Given the description of an element on the screen output the (x, y) to click on. 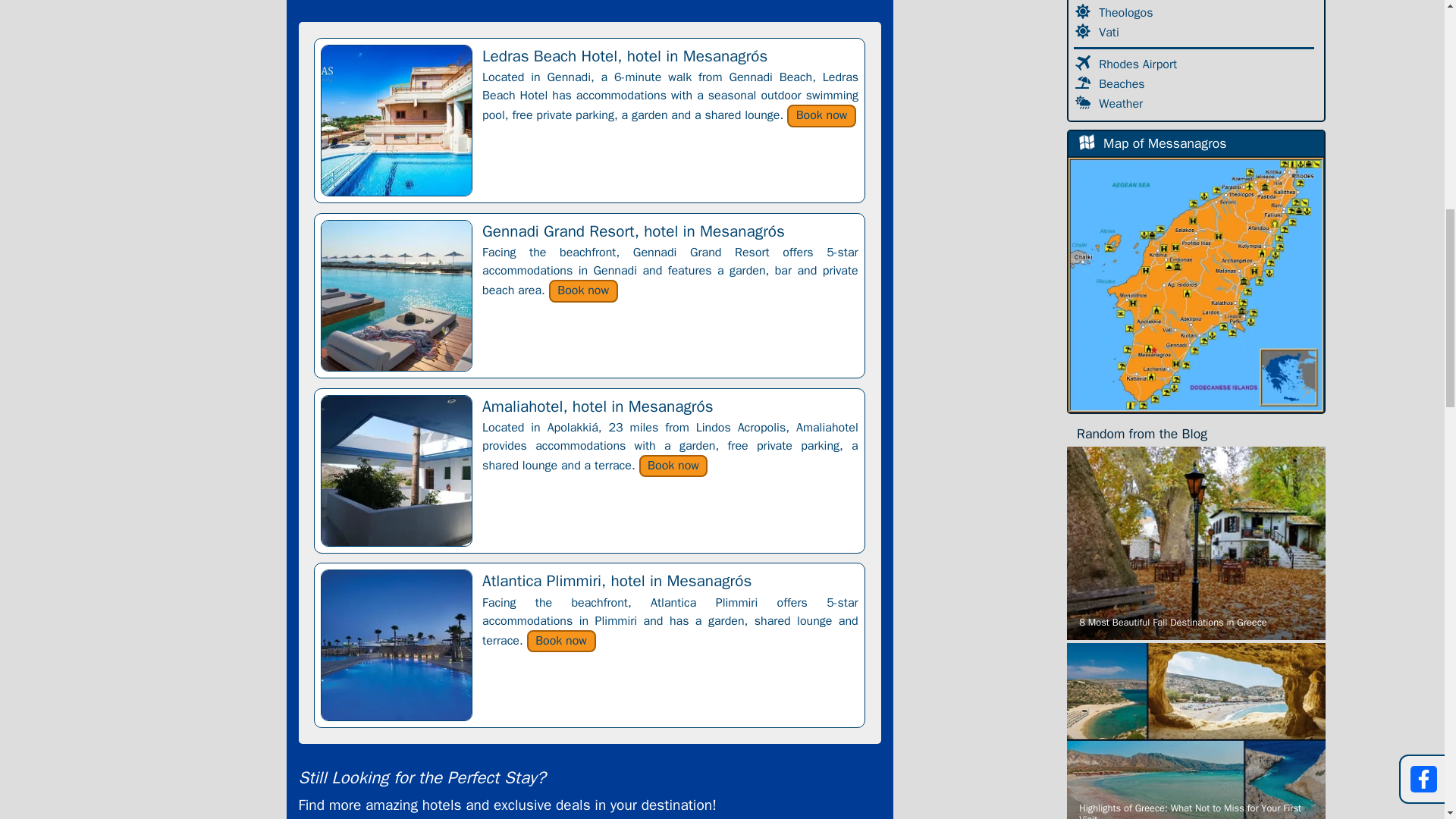
Map of Messanagros Map (1195, 283)
8 Most Beautiful Fall Destinations in Greece (1195, 543)
Highlights of Greece: What Not to Miss for Your First Visit (1195, 730)
